Given the description of an element on the screen output the (x, y) to click on. 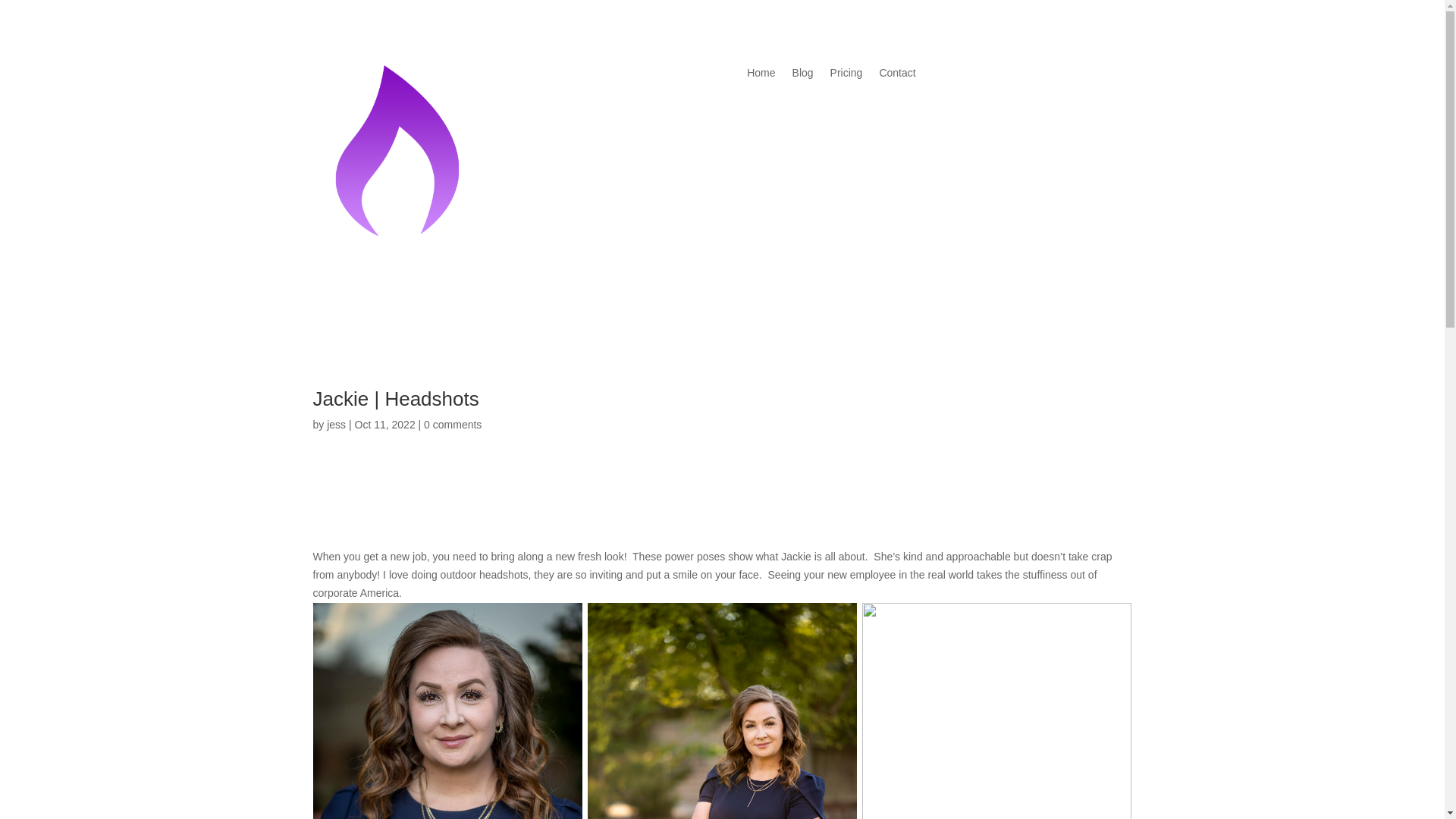
Blog (802, 75)
Contact (897, 75)
Posts by jess (336, 424)
Pricing (846, 75)
Follow on Instagram (354, 508)
Home (760, 75)
Follow on Facebook (324, 508)
0 comments (452, 424)
Follow on Instagram (1002, 73)
jess (336, 424)
